Given the description of an element on the screen output the (x, y) to click on. 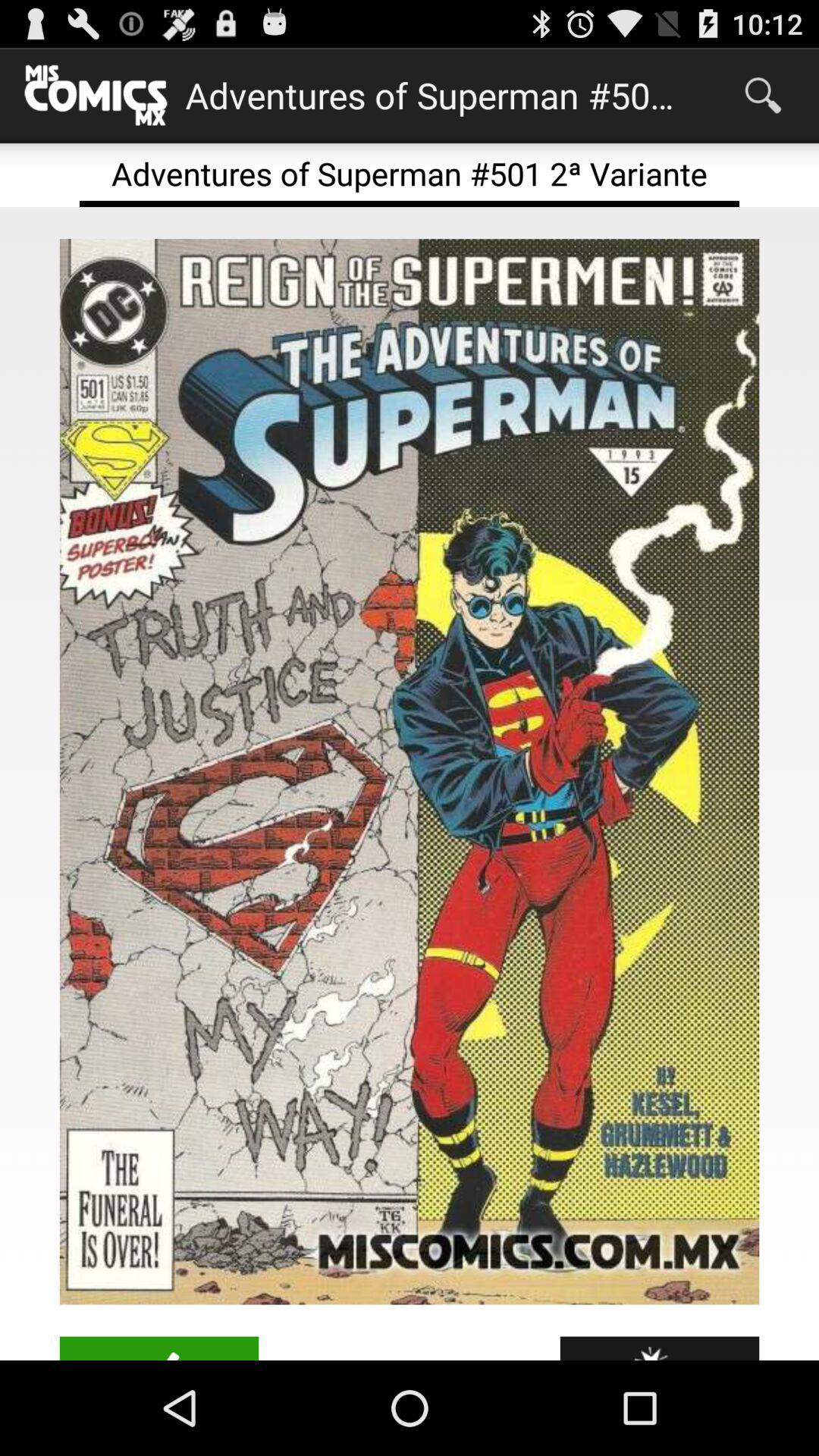
to view the image (409, 771)
